Given the description of an element on the screen output the (x, y) to click on. 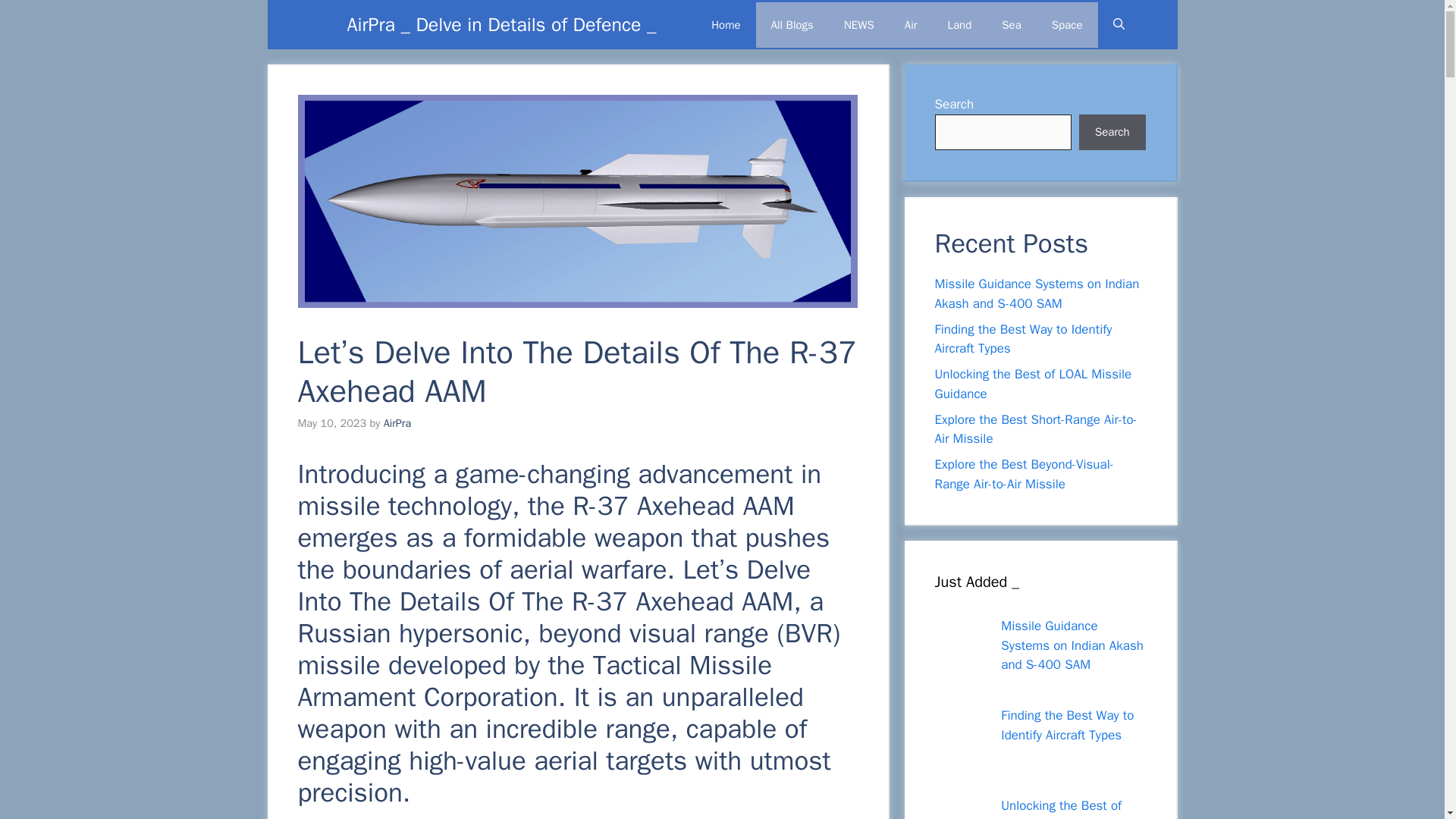
Space (1066, 23)
AirPra (398, 422)
NEWS (858, 23)
Land (960, 23)
Sea (1011, 23)
Home (725, 23)
View all posts by AirPra (398, 422)
Air (911, 23)
All Blogs (791, 23)
